Given the description of an element on the screen output the (x, y) to click on. 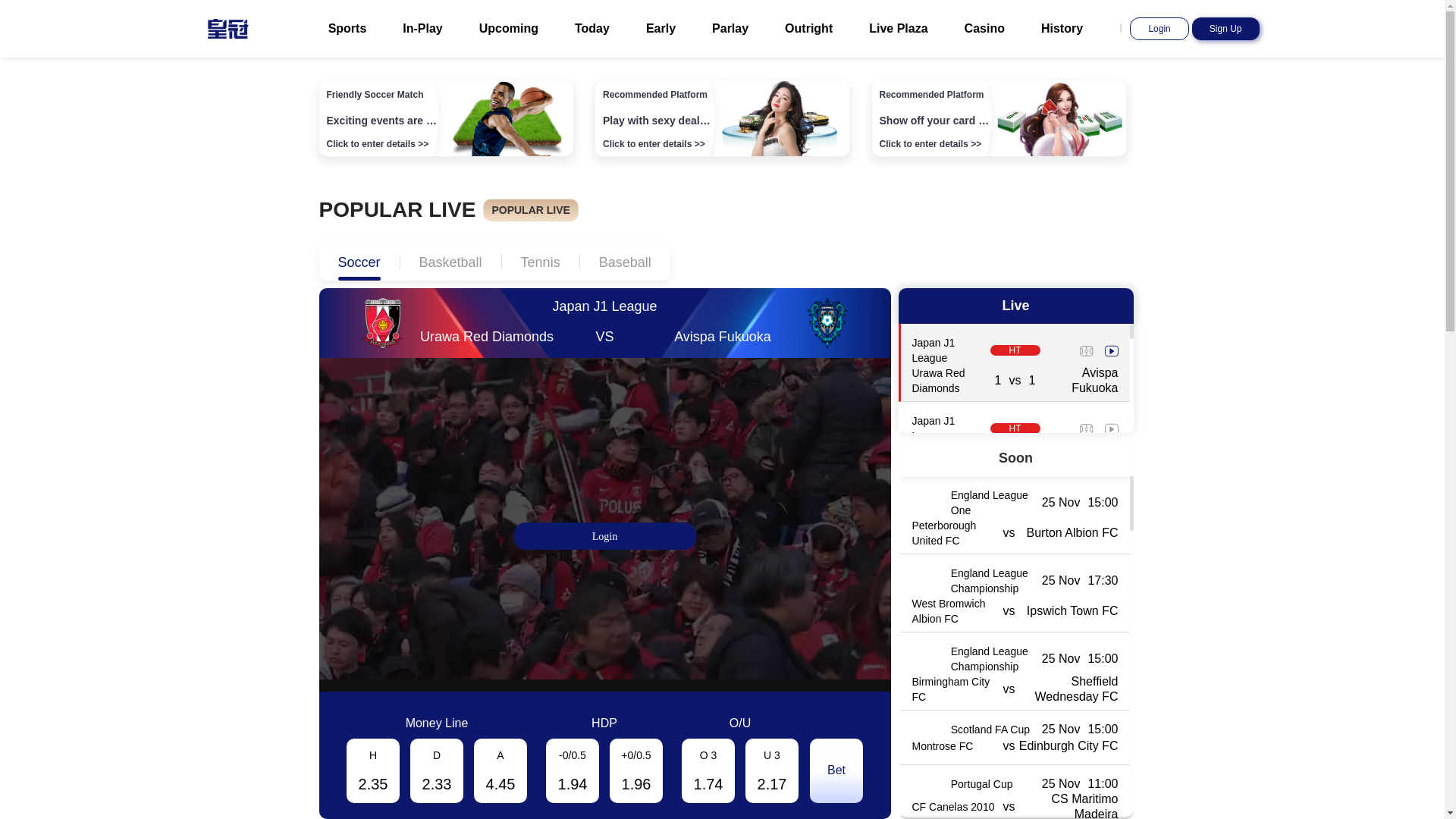
LiveReaIframe Element type: hover (604, 518)
Click to enter details >> Element type: text (377, 143)
Click to enter details >> Element type: text (930, 143)
Bet Element type: text (835, 770)
Sign Up Element type: text (1225, 28)
Click to enter details >> Element type: text (653, 143)
Login Element type: text (1158, 28)
